Given the description of an element on the screen output the (x, y) to click on. 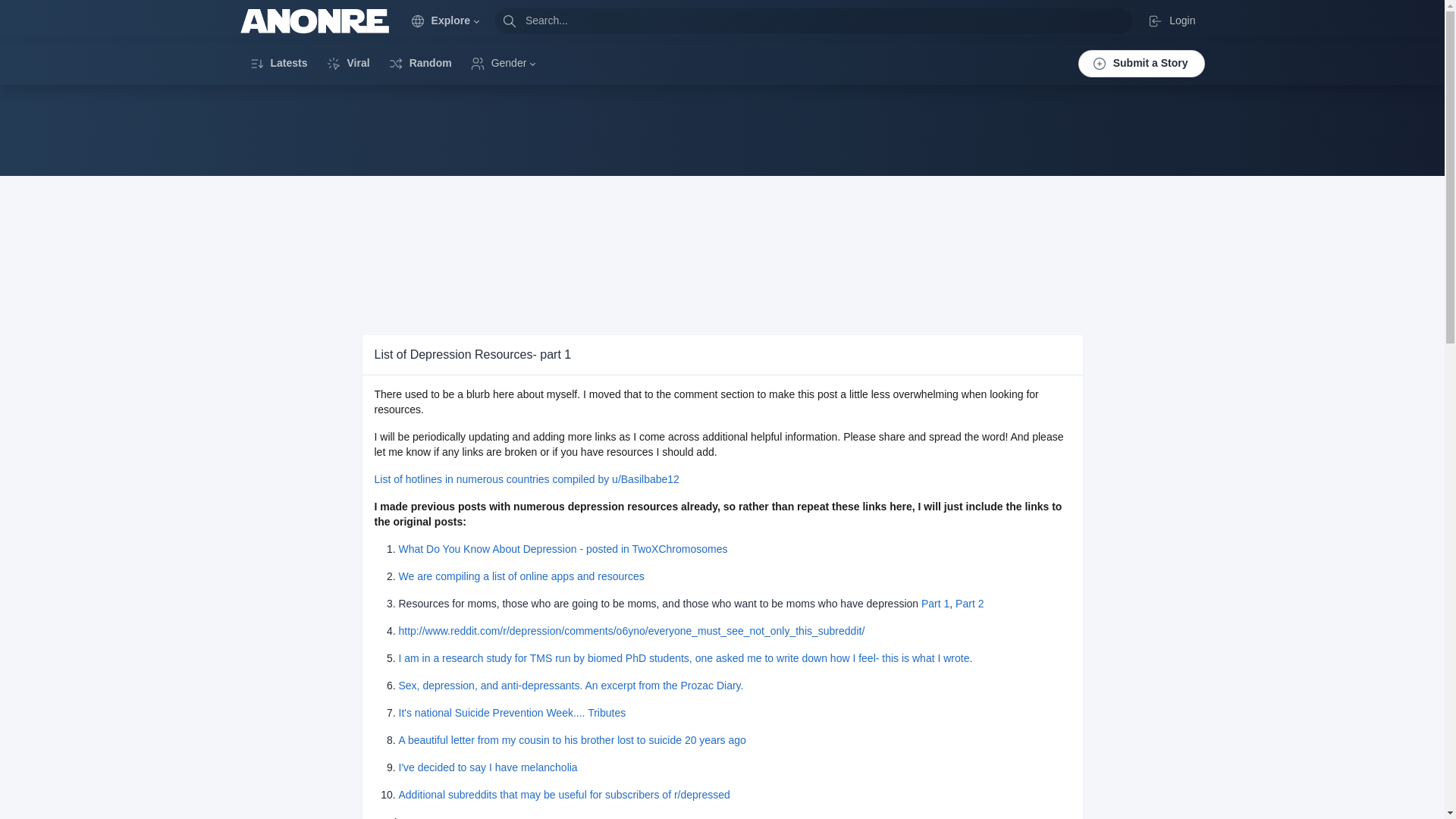
Viral (347, 62)
Latests (277, 62)
Part 1 (935, 603)
Random (419, 62)
It's national Suicide Prevention Week.... Tributes (512, 712)
Part 2 (969, 603)
